Given the description of an element on the screen output the (x, y) to click on. 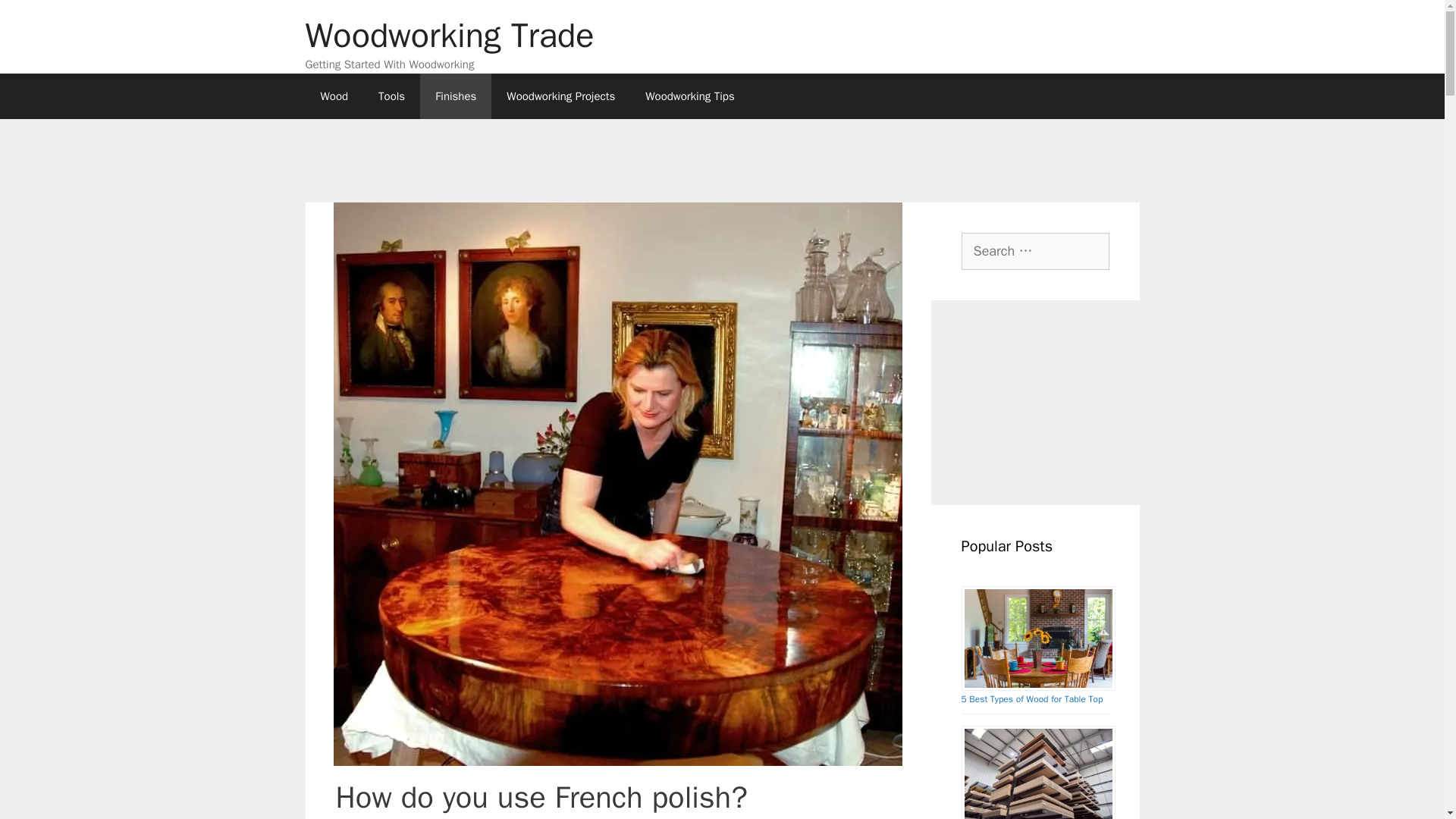
Woodworking Tips (689, 94)
Wood (333, 94)
Woodworking Projects (561, 94)
Finishes (456, 94)
Search for: (1034, 250)
5 Best Types of Wood for Table Top (1031, 698)
Woodworking Trade (449, 35)
Search (37, 18)
Tools (391, 94)
